Given the description of an element on the screen output the (x, y) to click on. 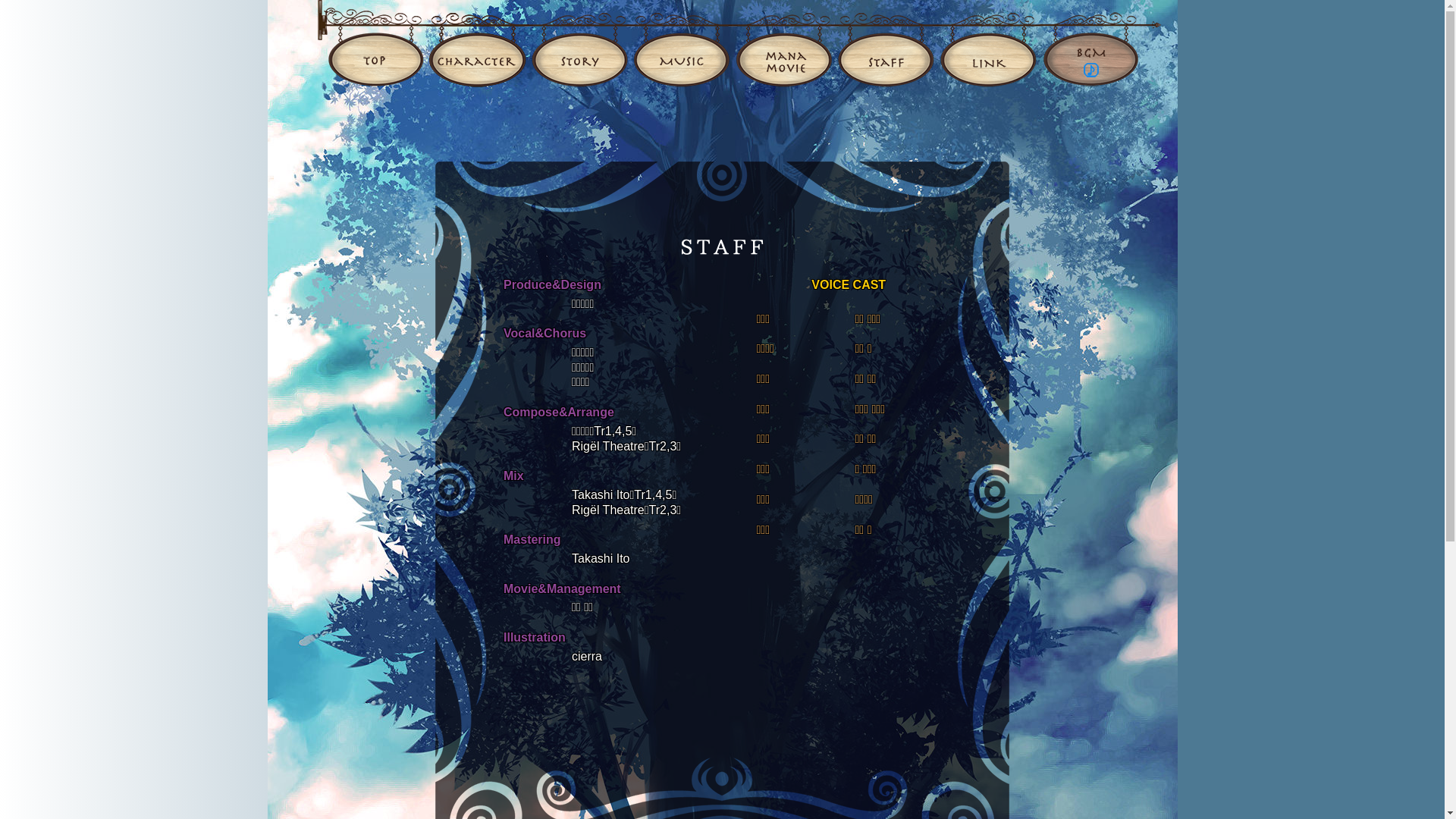
MUSIC Element type: text (681, 43)
CHARACTER Element type: text (476, 43)
BGM Element type: text (1099, 43)
cierra Element type: text (586, 655)
LINK Element type: text (988, 43)
TOP Element type: text (371, 43)
STAFF Element type: text (885, 43)
MANAMOVIE Element type: text (783, 43)
STORY Element type: text (578, 43)
